Given the description of an element on the screen output the (x, y) to click on. 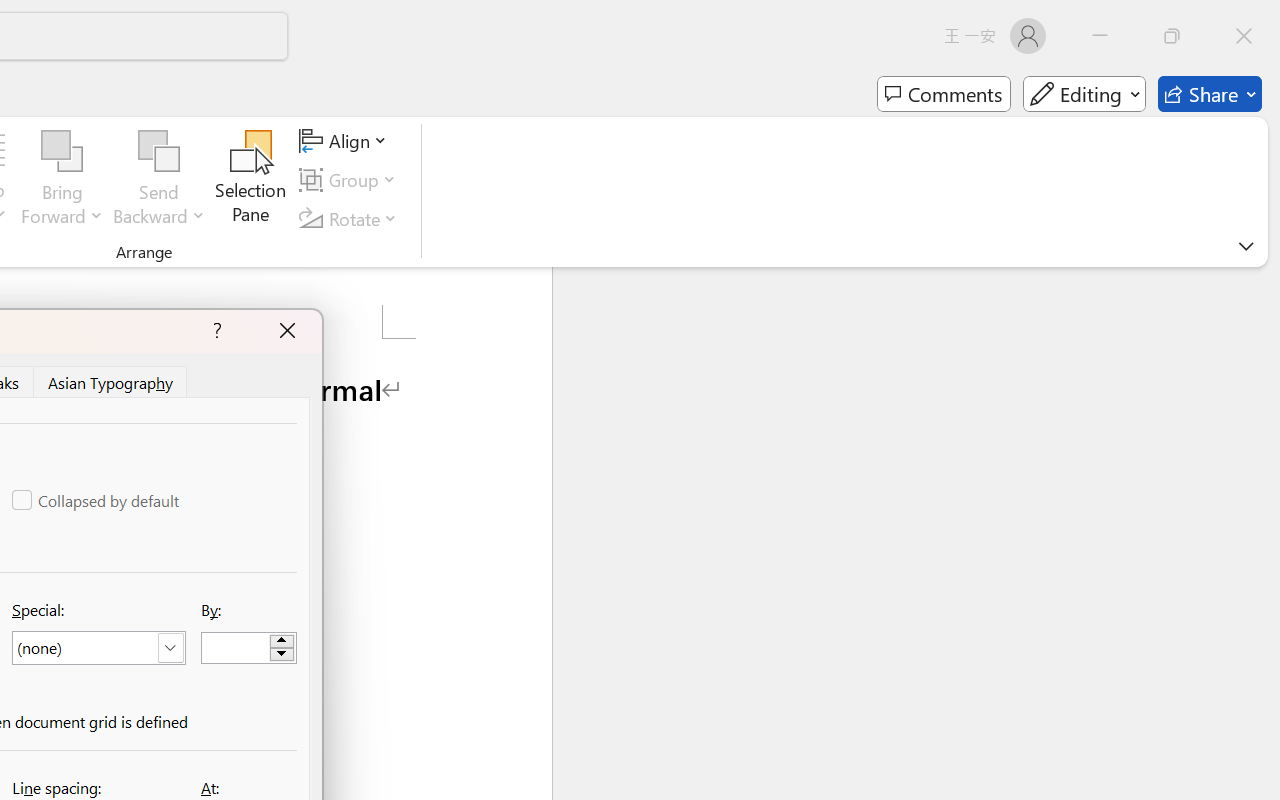
Send Backward (159, 151)
Rotate (351, 218)
Send Backward (159, 179)
By: (248, 648)
RichEdit Control (235, 647)
Bring Forward (62, 179)
Collapsed by default (97, 500)
